Given the description of an element on the screen output the (x, y) to click on. 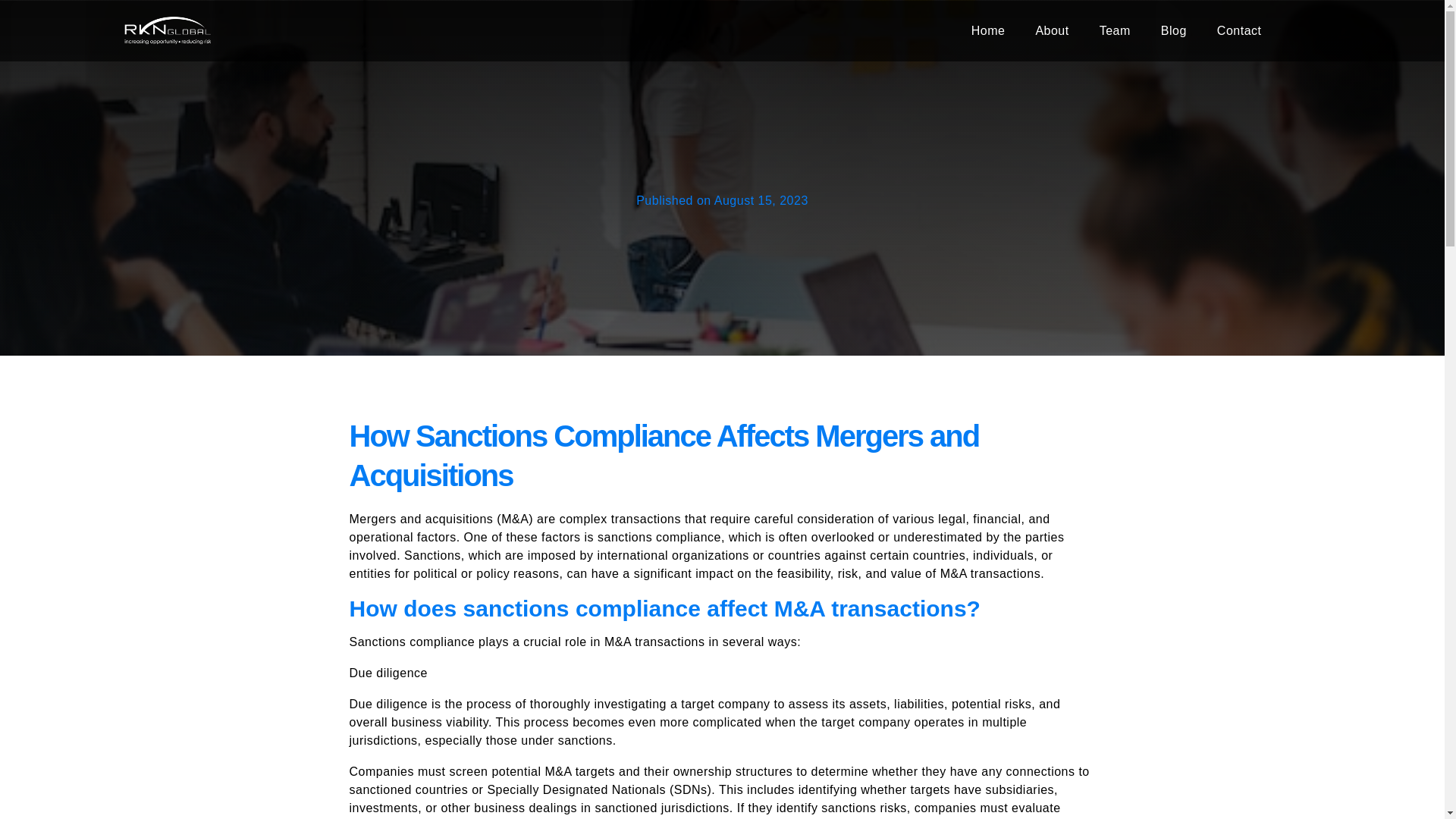
Team (1114, 30)
Contact (1239, 30)
Blog (1173, 30)
Home (988, 30)
Published on August 15, 2023 (721, 200)
Published on August 15, 2023 (722, 200)
How Sanctions Compliance Affects Mergers and Acquisitions (721, 455)
About (790, 30)
